Given the description of an element on the screen output the (x, y) to click on. 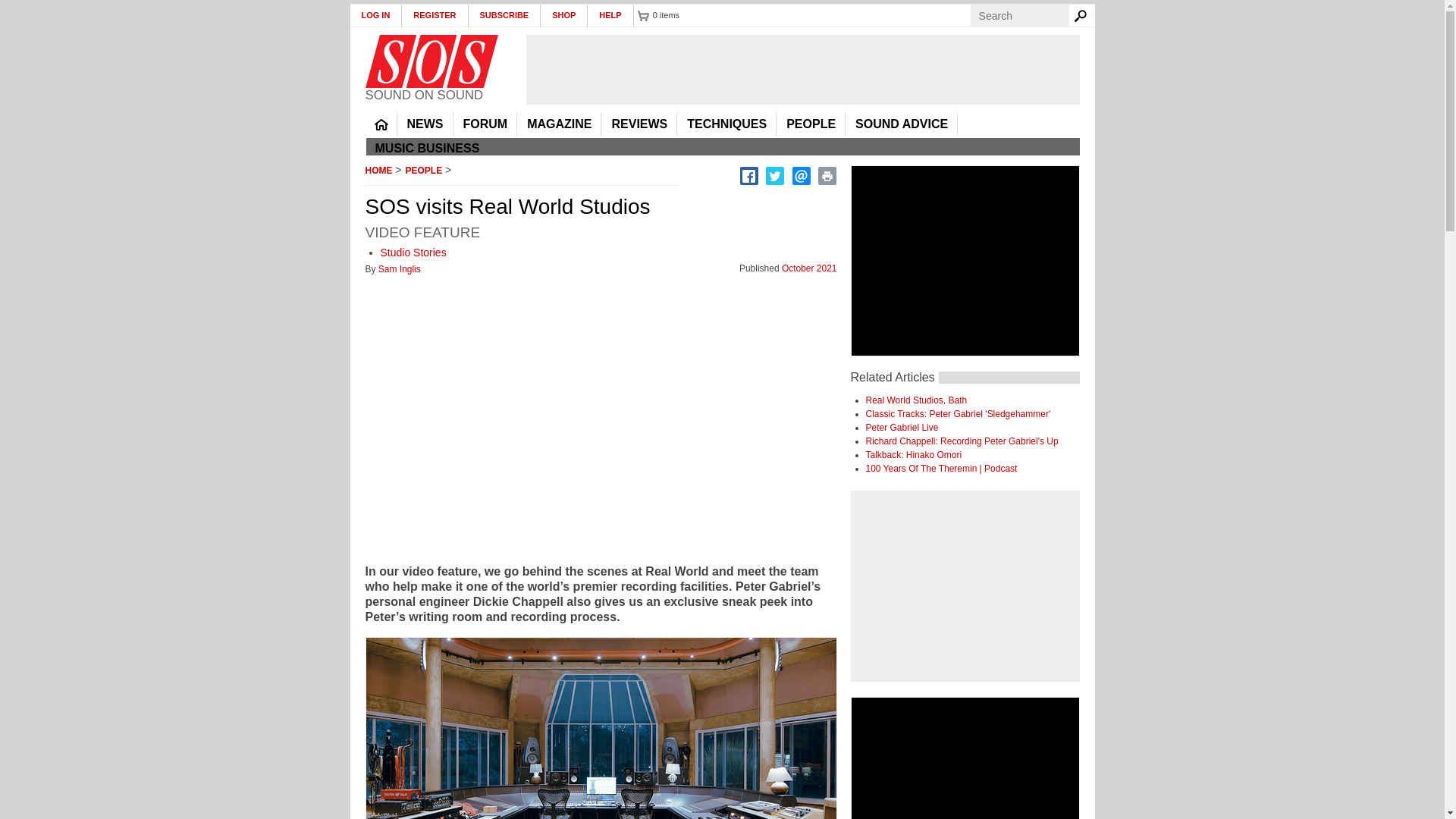
Home (431, 61)
LOG IN (376, 15)
HELP (610, 15)
SUBSCRIBE (504, 15)
Search (1082, 15)
FORUM (484, 124)
REGISTER (434, 15)
HOME (380, 124)
MAGAZINE (558, 124)
3rd party ad content (801, 70)
SHOP (564, 15)
Search (1082, 15)
NEWS (424, 124)
